Given the description of an element on the screen output the (x, y) to click on. 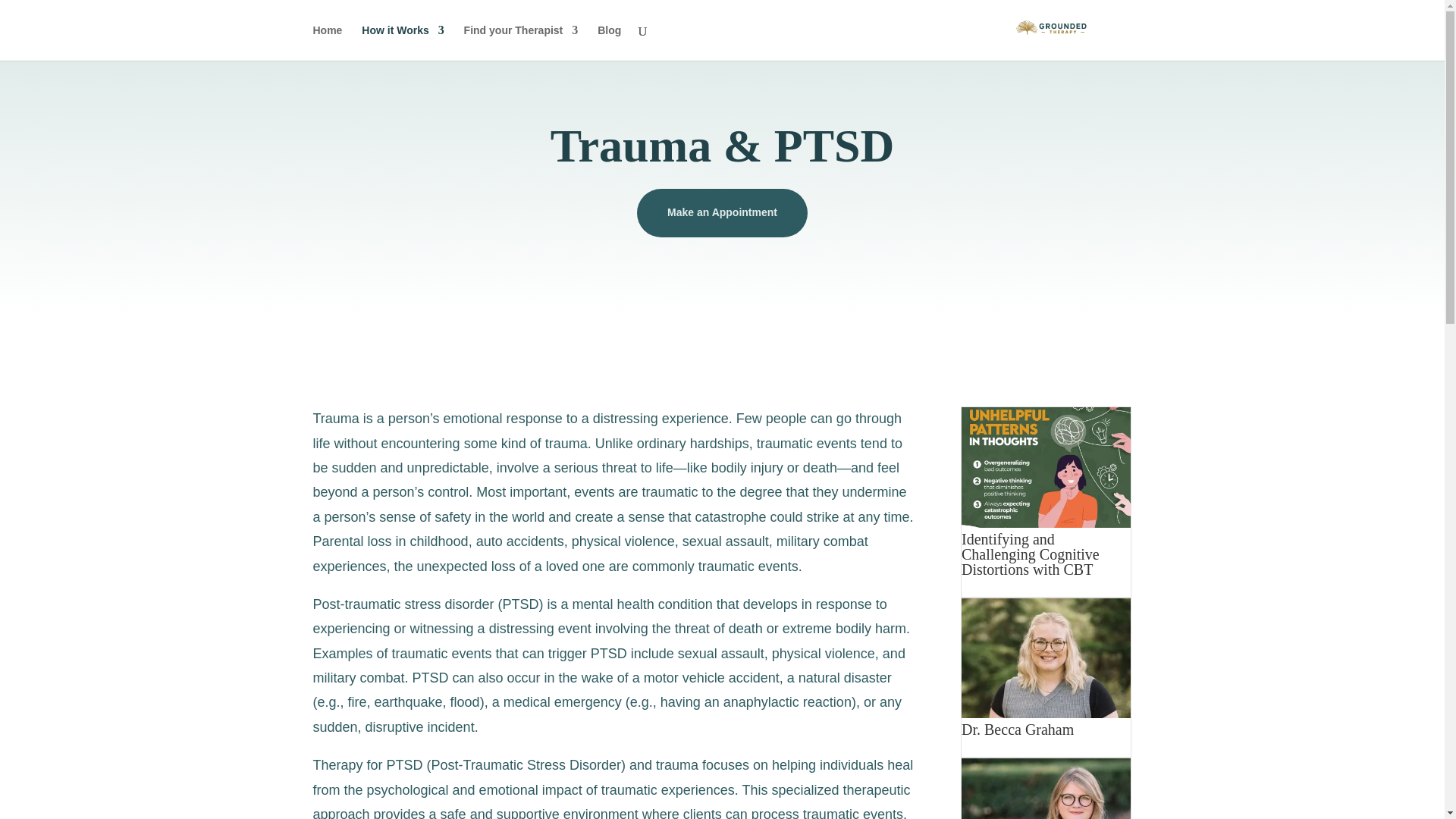
How it Works (402, 42)
Home (327, 42)
